Given the description of an element on the screen output the (x, y) to click on. 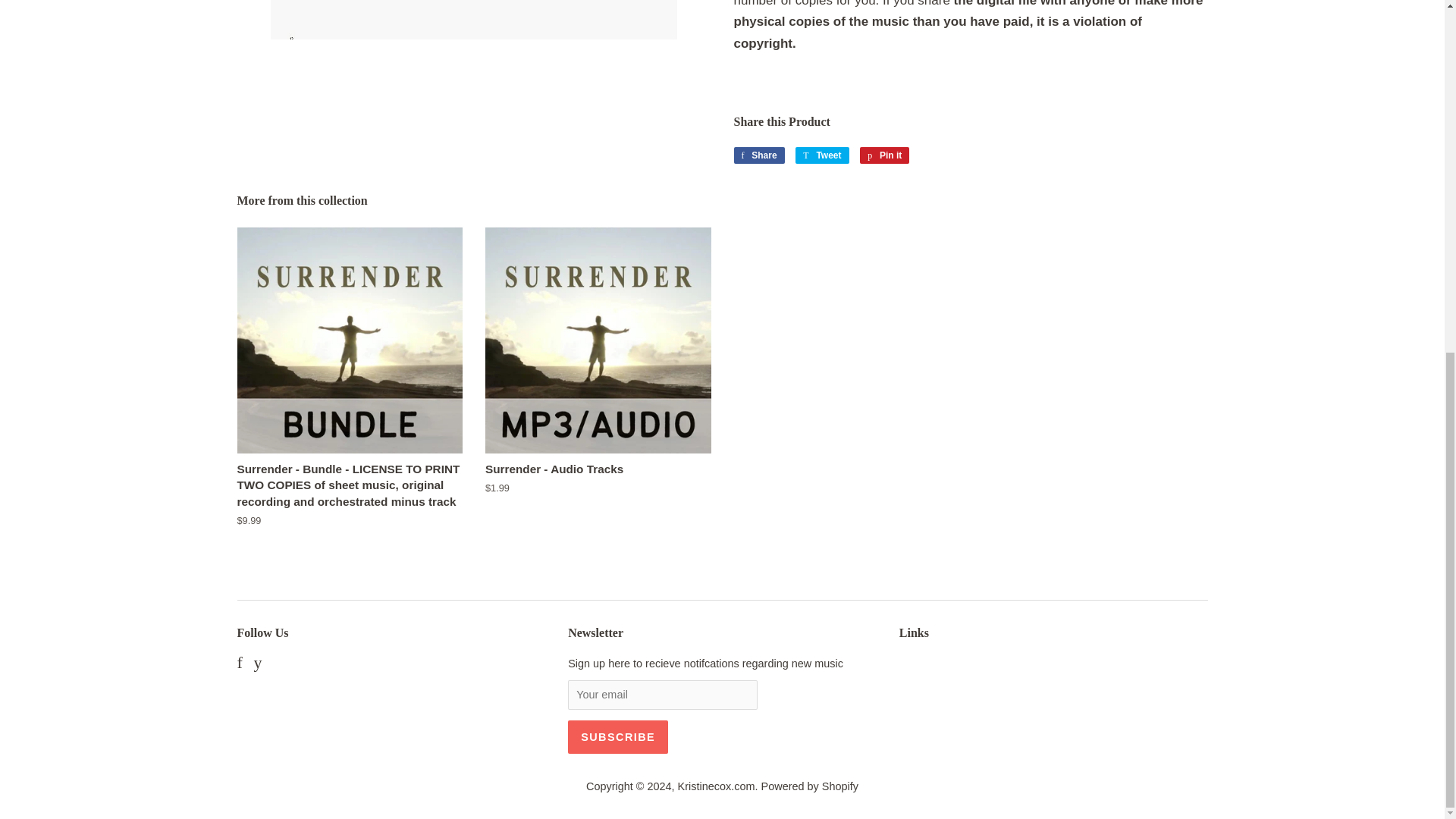
Subscribe (617, 736)
Pin on Pinterest (884, 155)
Subscribe (821, 155)
Share on Facebook (758, 155)
Tweet on Twitter (617, 736)
